Given the description of an element on the screen output the (x, y) to click on. 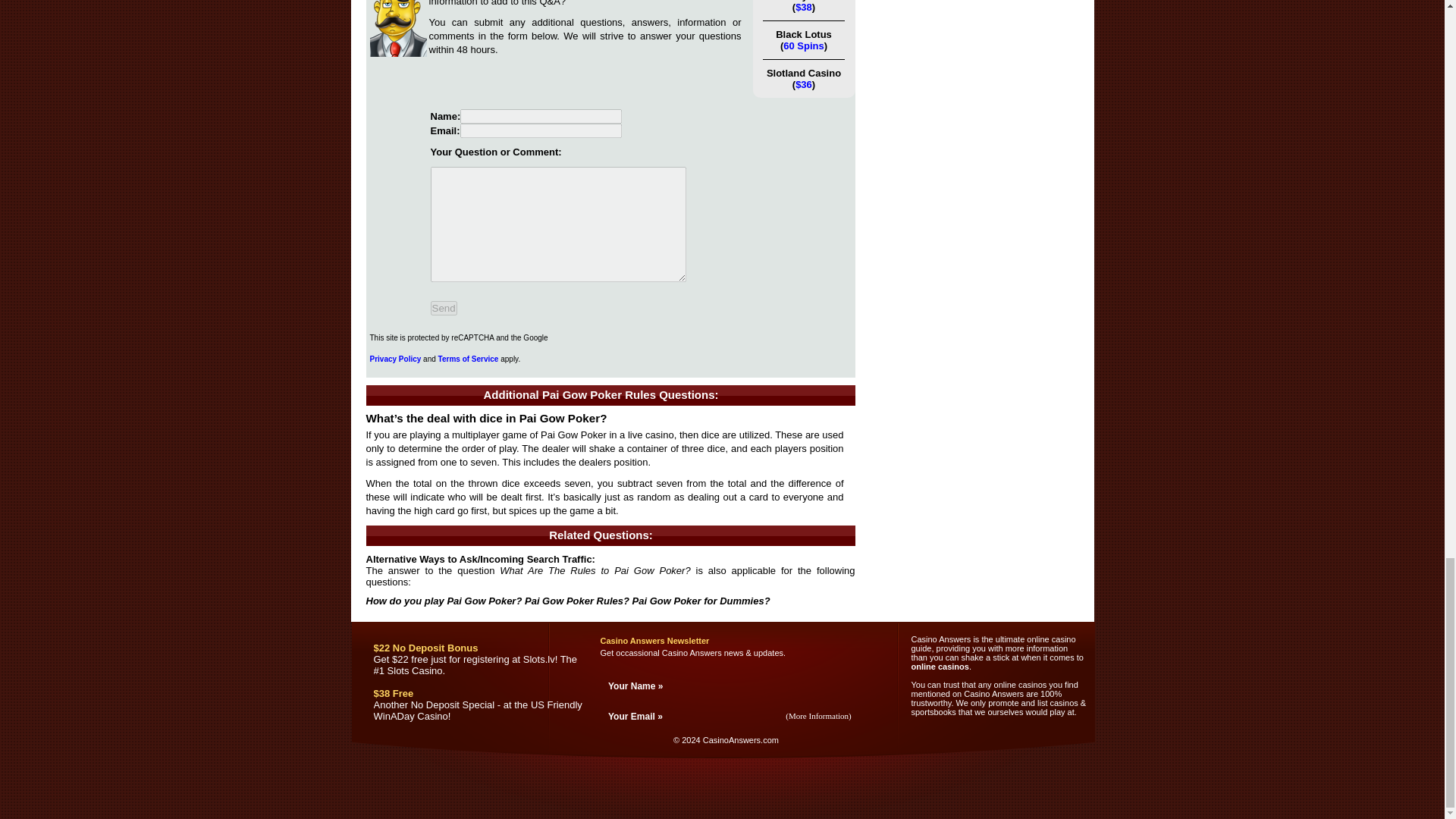
Send (443, 308)
